Given the description of an element on the screen output the (x, y) to click on. 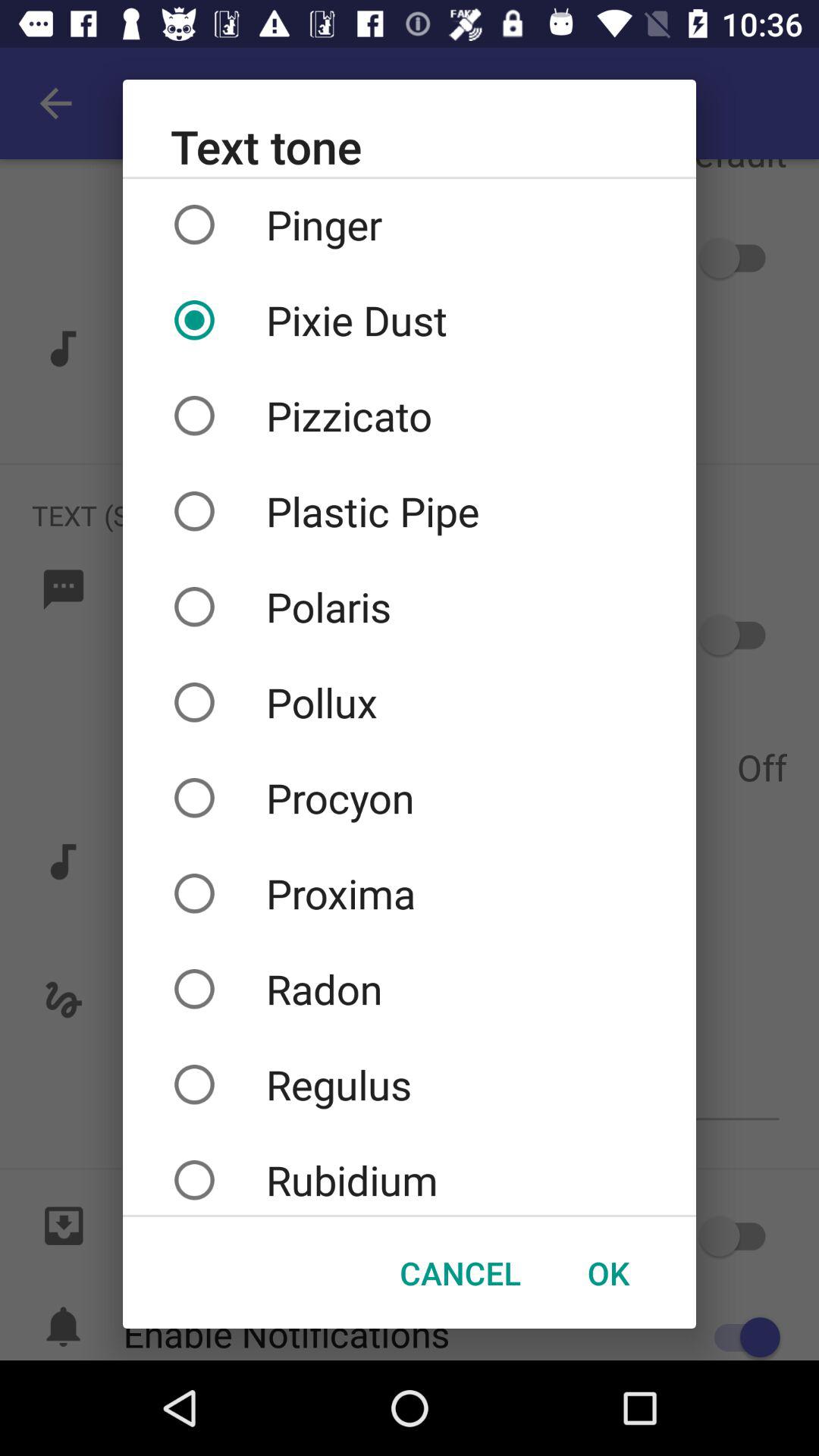
click ok at the bottom right corner (608, 1272)
